Given the description of an element on the screen output the (x, y) to click on. 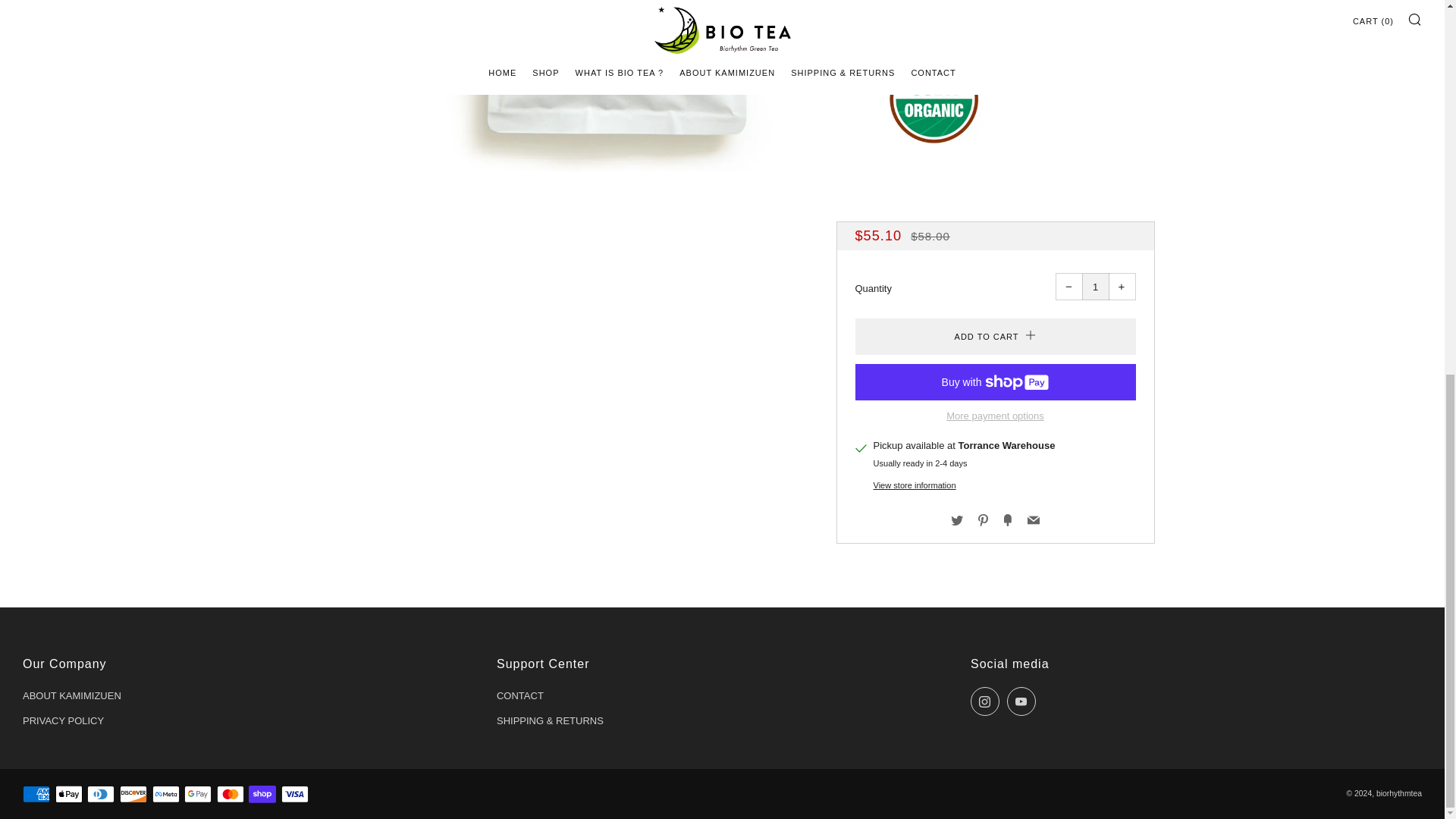
Pinterest (982, 520)
ABOUT KAMIMIZUEN (71, 695)
More payment options (995, 416)
View store information (914, 484)
PRIVACY POLICY (63, 720)
Twitter (956, 520)
Email (1033, 520)
Fancy (1007, 520)
ADD TO CART (995, 336)
CONTACT (519, 695)
